Given the description of an element on the screen output the (x, y) to click on. 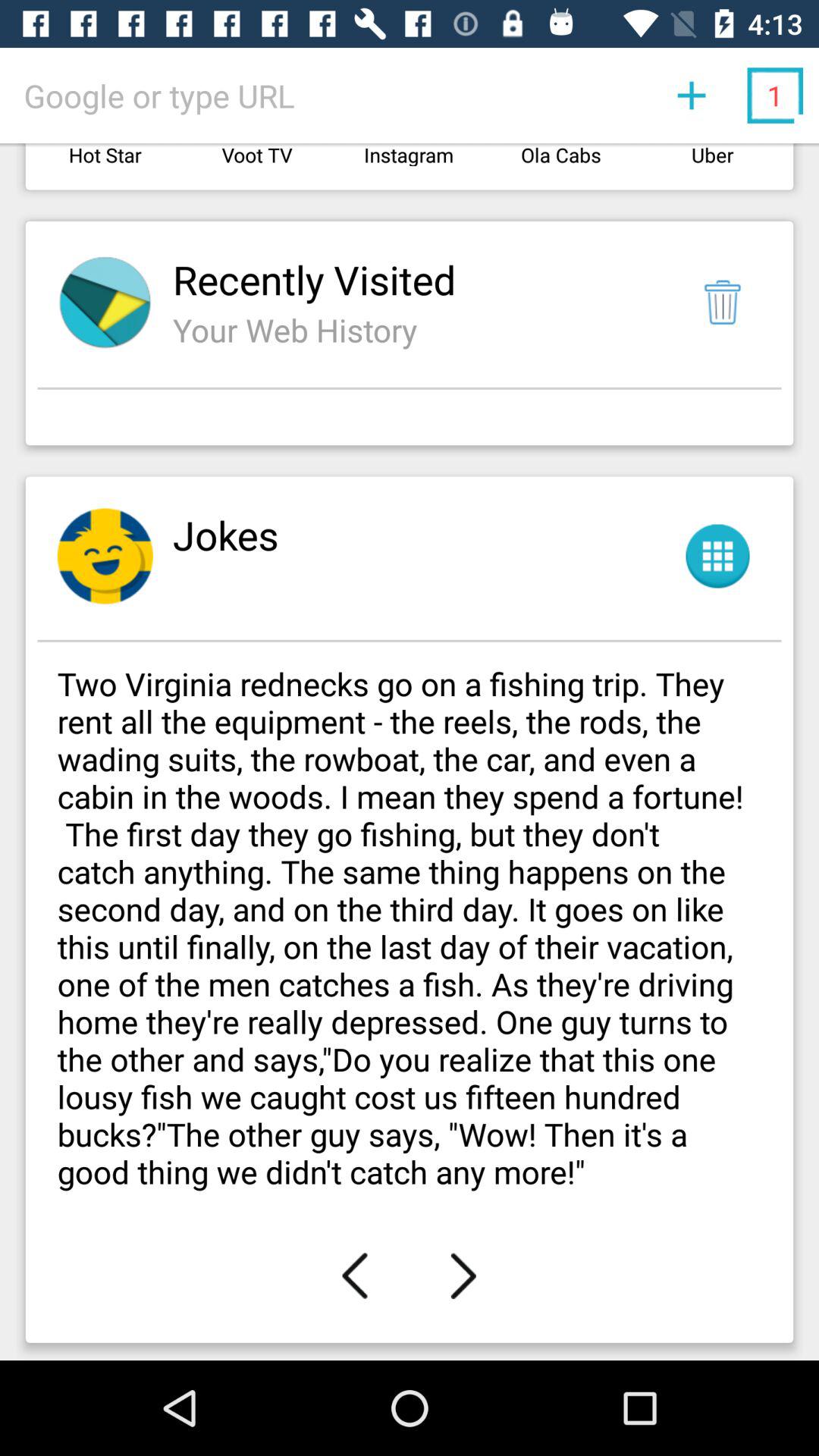
select icon above the jokes item (409, 421)
